Given the description of an element on the screen output the (x, y) to click on. 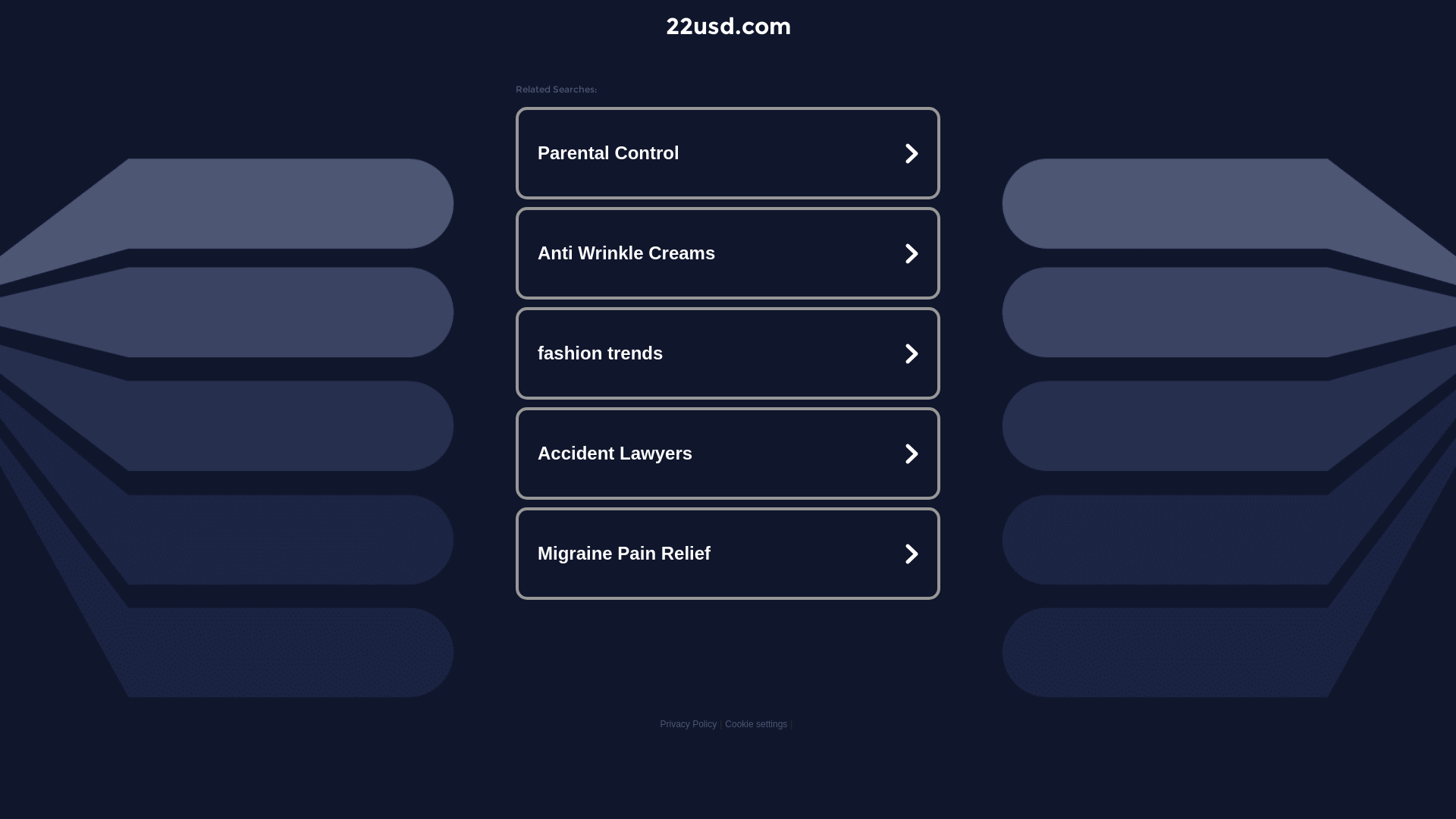
Anti Wrinkle Creams Element type: text (727, 253)
Accident Lawyers Element type: text (727, 453)
Parental Control Element type: text (727, 152)
Migraine Pain Relief Element type: text (727, 553)
fashion trends Element type: text (727, 353)
Privacy Policy Element type: text (687, 723)
Cookie settings Element type: text (755, 723)
22usd.com Element type: text (727, 26)
